Given the description of an element on the screen output the (x, y) to click on. 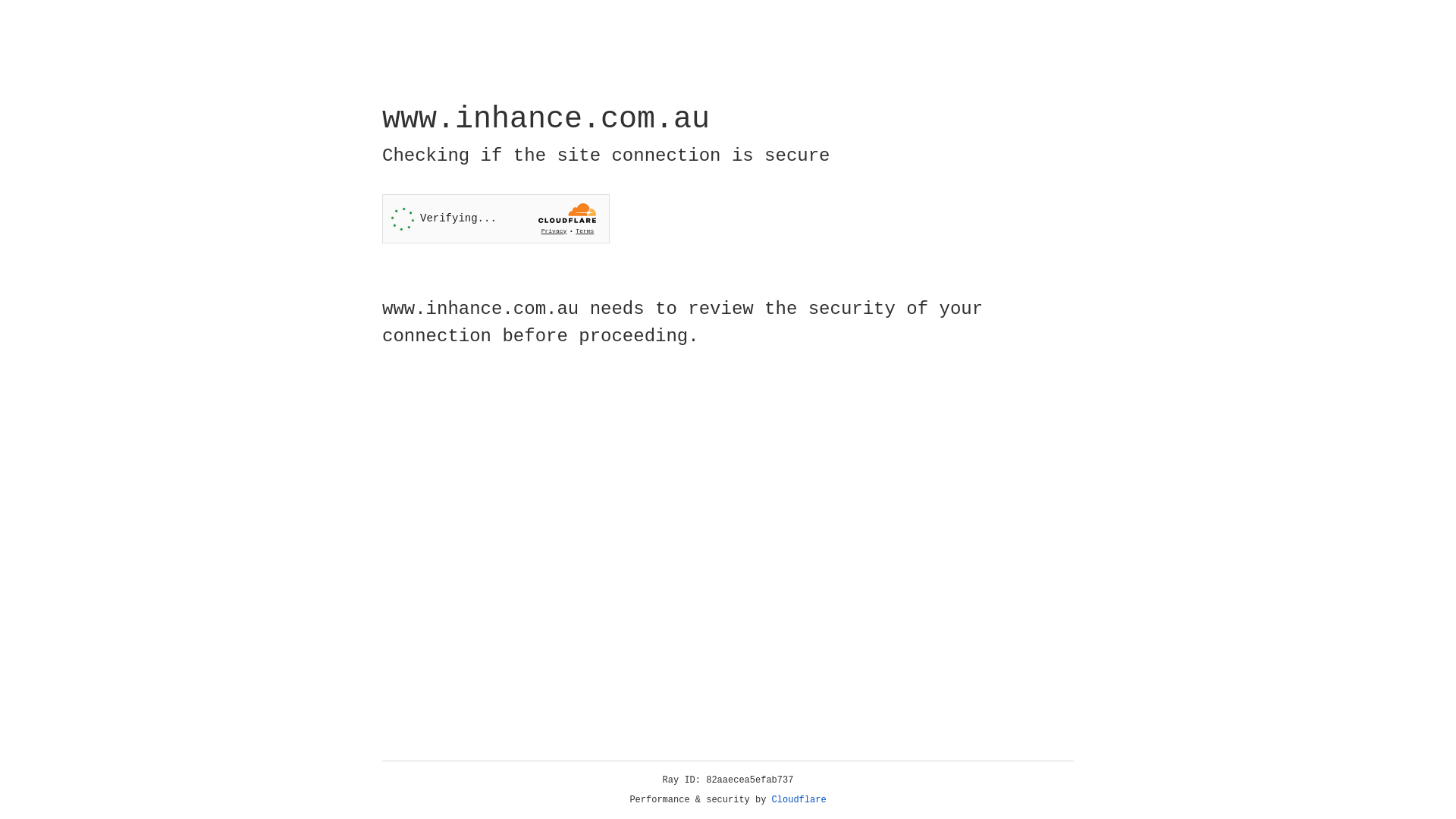
Cloudflare Element type: text (798, 799)
Widget containing a Cloudflare security challenge Element type: hover (495, 218)
